Given the description of an element on the screen output the (x, y) to click on. 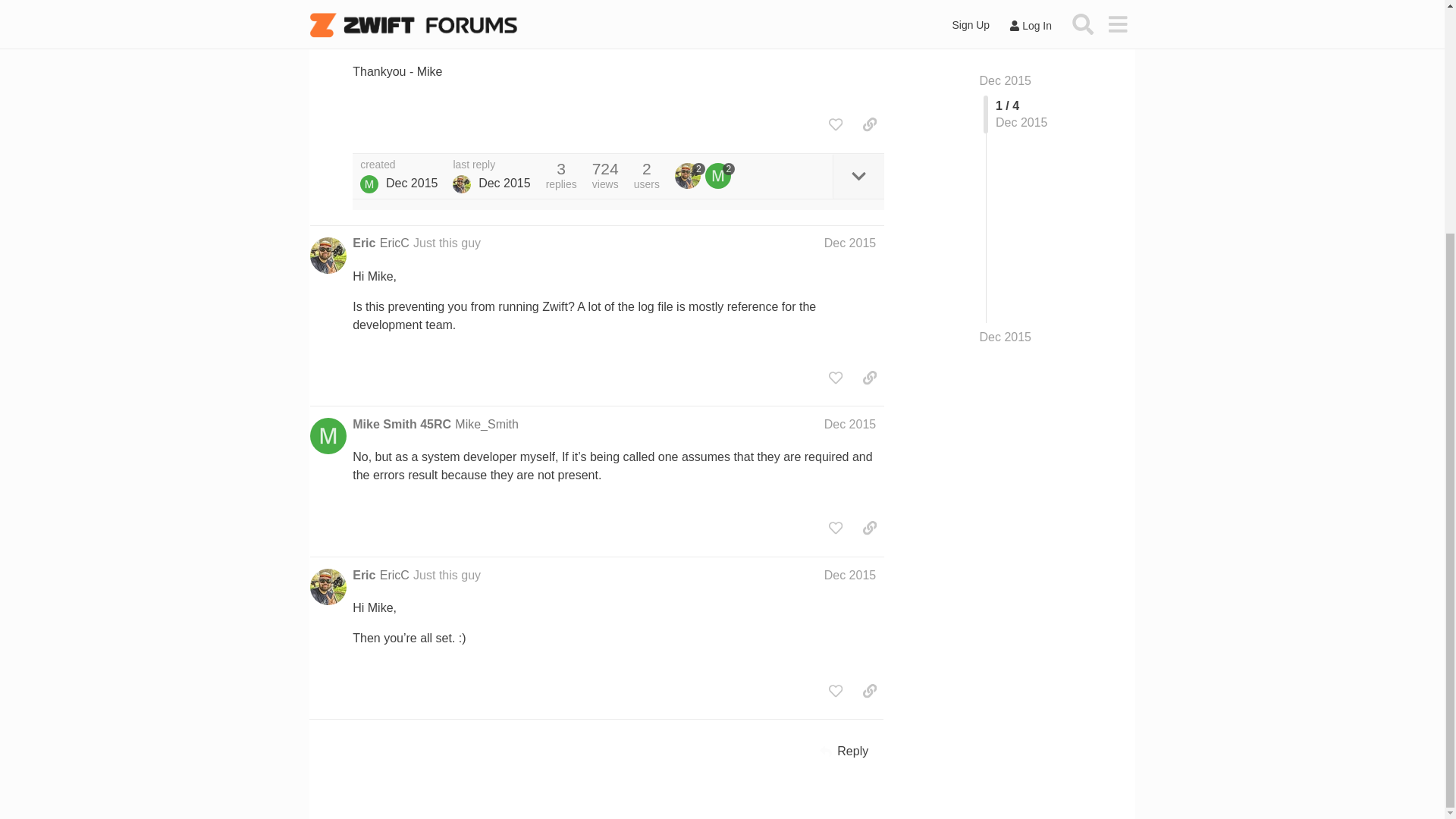
Eric  (461, 184)
2 (719, 175)
like this post (835, 124)
Jump to the last post (1005, 65)
expand topic details (857, 176)
Eric (363, 575)
Dec 2015 (1005, 66)
Mike Smith 45RC (368, 184)
last reply (490, 164)
copy a link to this post to clipboard (869, 124)
Dec 2015 (850, 423)
Dec 11, 2015 7:13 am (505, 182)
Mike Smith 45RC (401, 424)
EricC (394, 242)
Dec 11, 2015 4:18 am (411, 182)
